Given the description of an element on the screen output the (x, y) to click on. 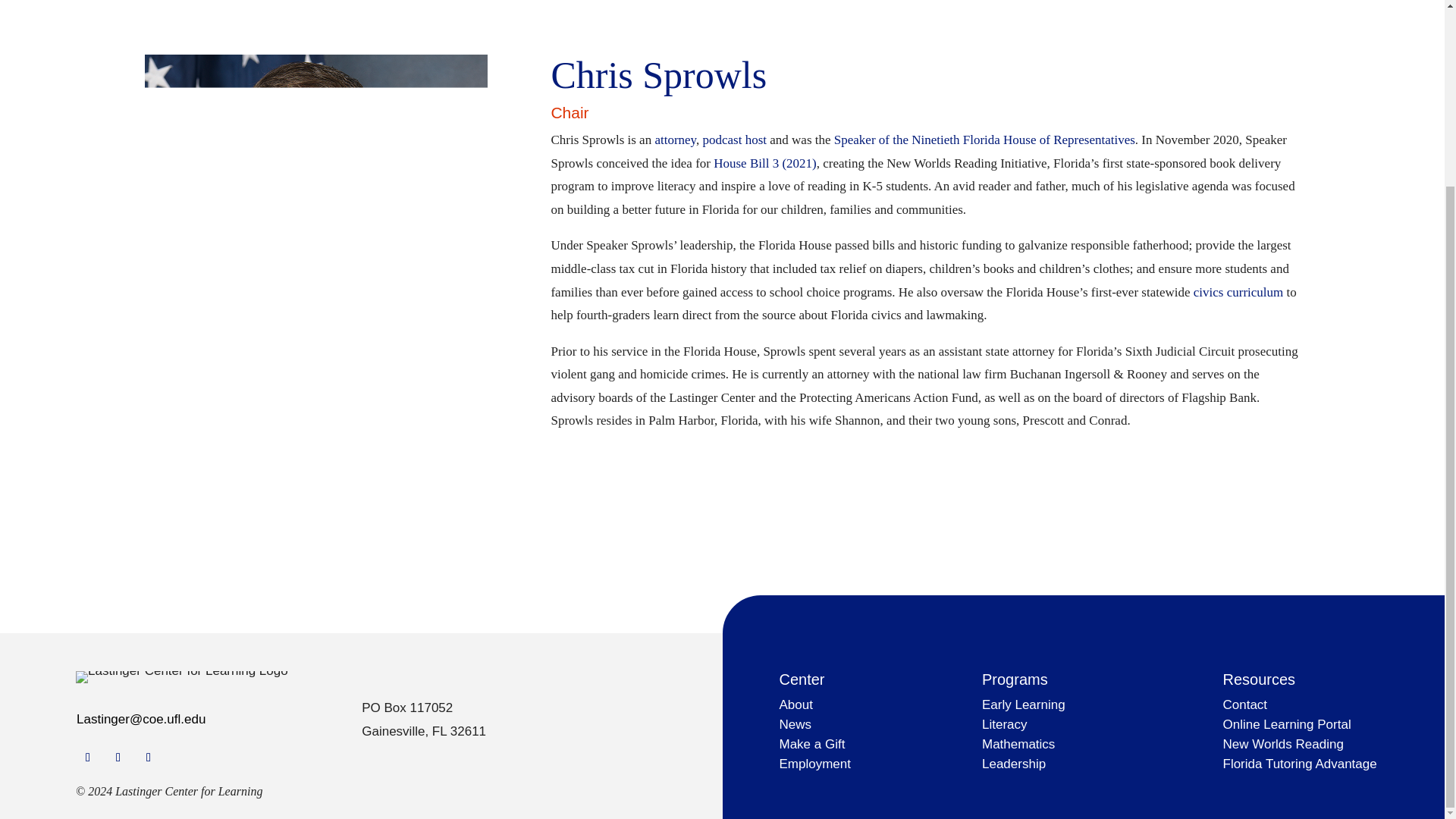
Sprowls cropped (315, 227)
Follow on LinkedIn (148, 757)
Follow on Facebook (87, 757)
Follow on Twitter (118, 757)
